Given the description of an element on the screen output the (x, y) to click on. 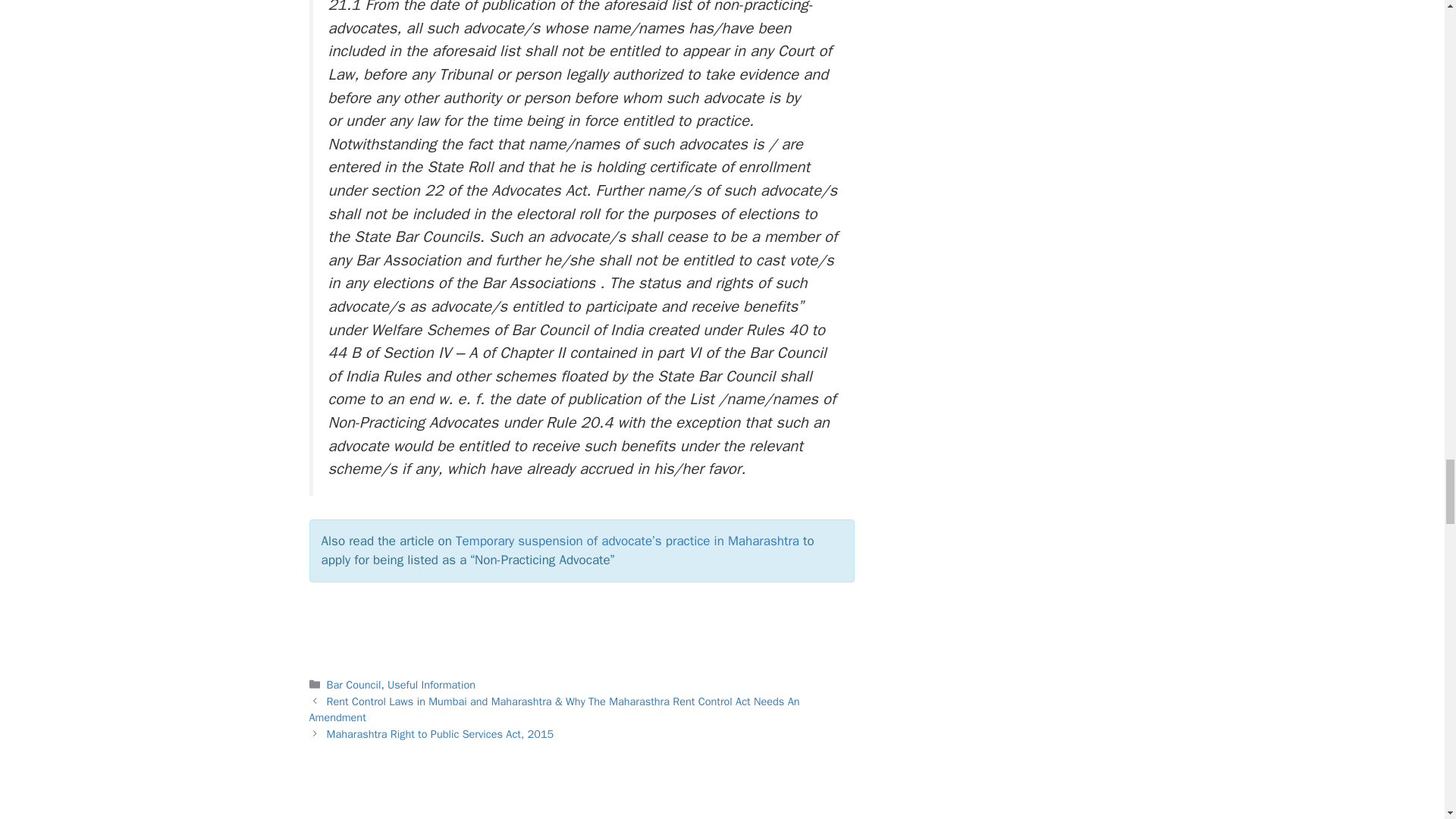
Maharashtra Right to Public Services Act, 2015 (440, 734)
Useful Information (431, 684)
Bar Council (353, 684)
